Given the description of an element on the screen output the (x, y) to click on. 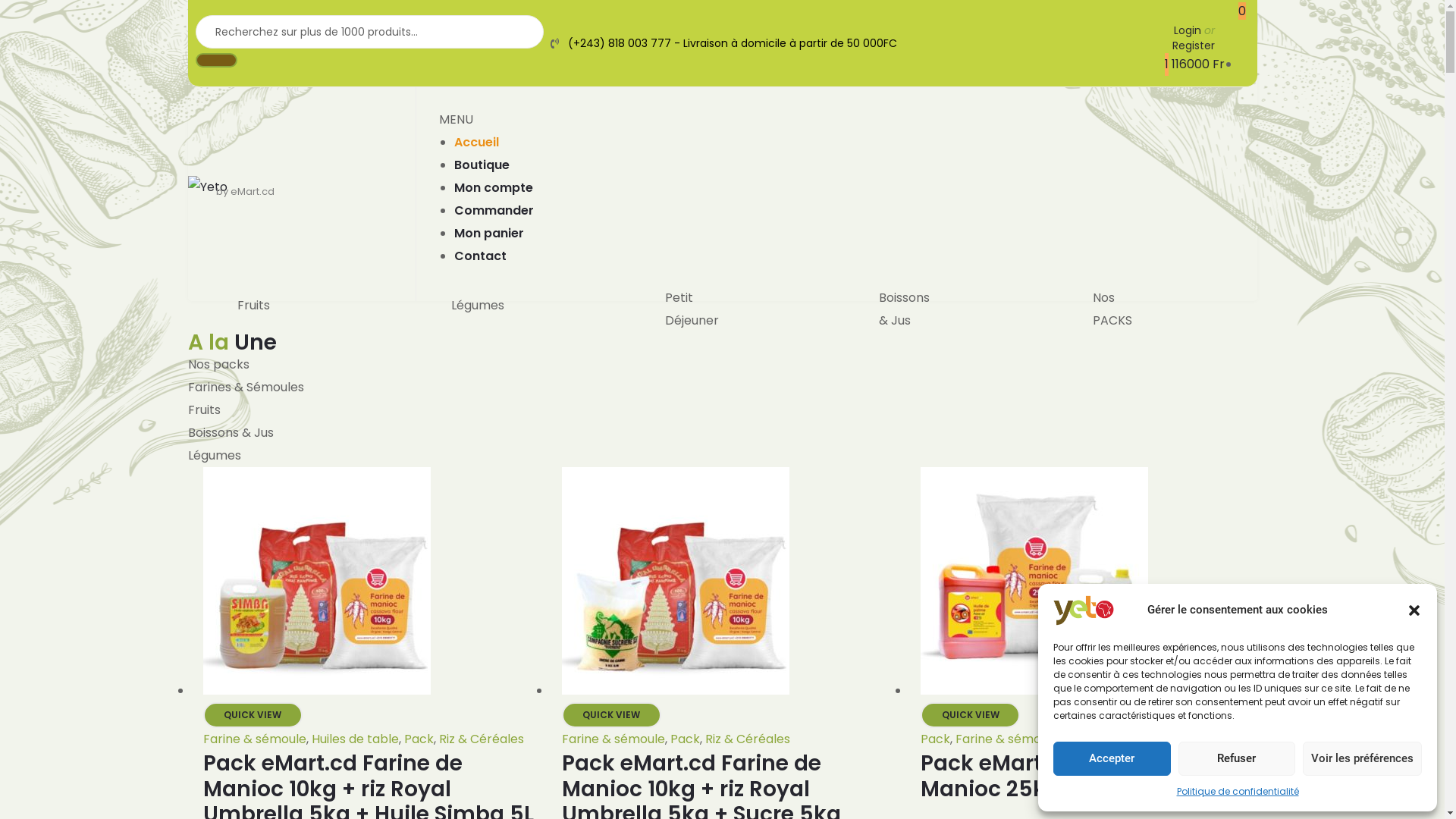
Refuser Element type: text (1236, 758)
Pack Element type: text (418, 738)
Mon panier Element type: text (489, 232)
Contact Element type: text (480, 255)
Huiles de table Element type: text (1107, 738)
Boutique Element type: text (481, 164)
QUICK VIEW Element type: text (252, 715)
Nos
PACKS Element type: text (1111, 308)
Pack Element type: text (684, 738)
Pack Element type: text (935, 738)
QUICK VIEW Element type: text (611, 715)
Fruits Element type: text (252, 304)
Commander Element type: text (493, 210)
1 116000 Fr Element type: text (1194, 69)
0 Element type: text (1241, 10)
Huiles de table Element type: text (354, 738)
Boissons
& Jus Element type: text (903, 308)
Pack eMart.cd Farine de Manioc 25kg + Huile de table Element type: text (1076, 775)
Accueil Element type: text (476, 141)
Mon compte Element type: text (493, 187)
Search Element type: hover (369, 31)
Login or
Register Element type: text (1204, 37)
QUICK VIEW Element type: text (969, 715)
Accepter Element type: text (1111, 758)
